Given the description of an element on the screen output the (x, y) to click on. 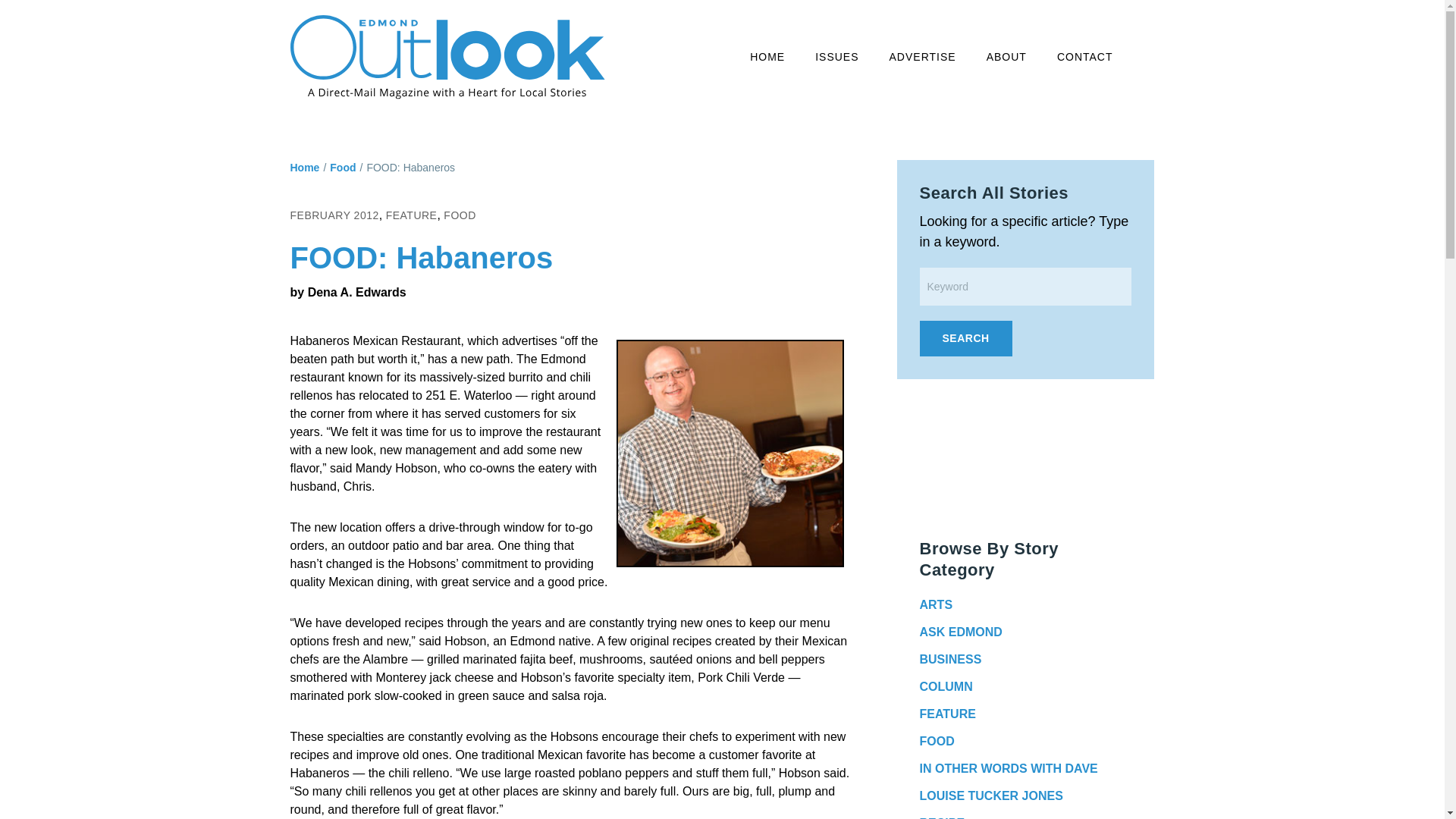
CONTACT (1085, 56)
HOME (766, 56)
Dena A. Edwards (356, 291)
IN OTHER WORDS WITH DAVE (1007, 768)
Food (342, 167)
FOOD (935, 740)
Home (303, 167)
LOUISE TUCKER JONES (990, 795)
FEATURE (411, 215)
ARTS (935, 604)
ADVERTISE (922, 56)
Habaneros (729, 453)
FEATURE (946, 713)
Search (964, 338)
Search (964, 338)
